Given the description of an element on the screen output the (x, y) to click on. 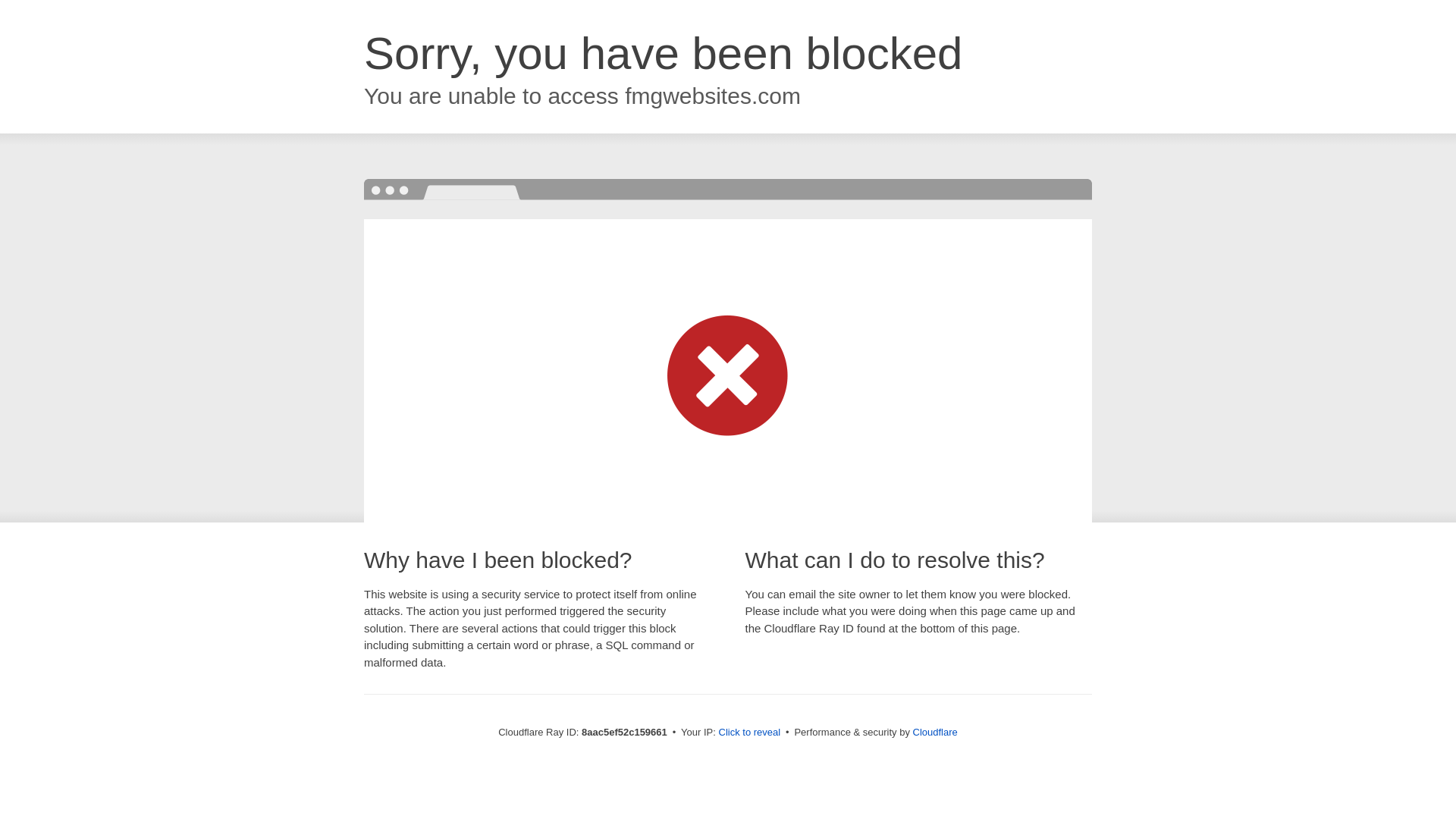
Click to reveal (749, 732)
Cloudflare (935, 731)
